Given the description of an element on the screen output the (x, y) to click on. 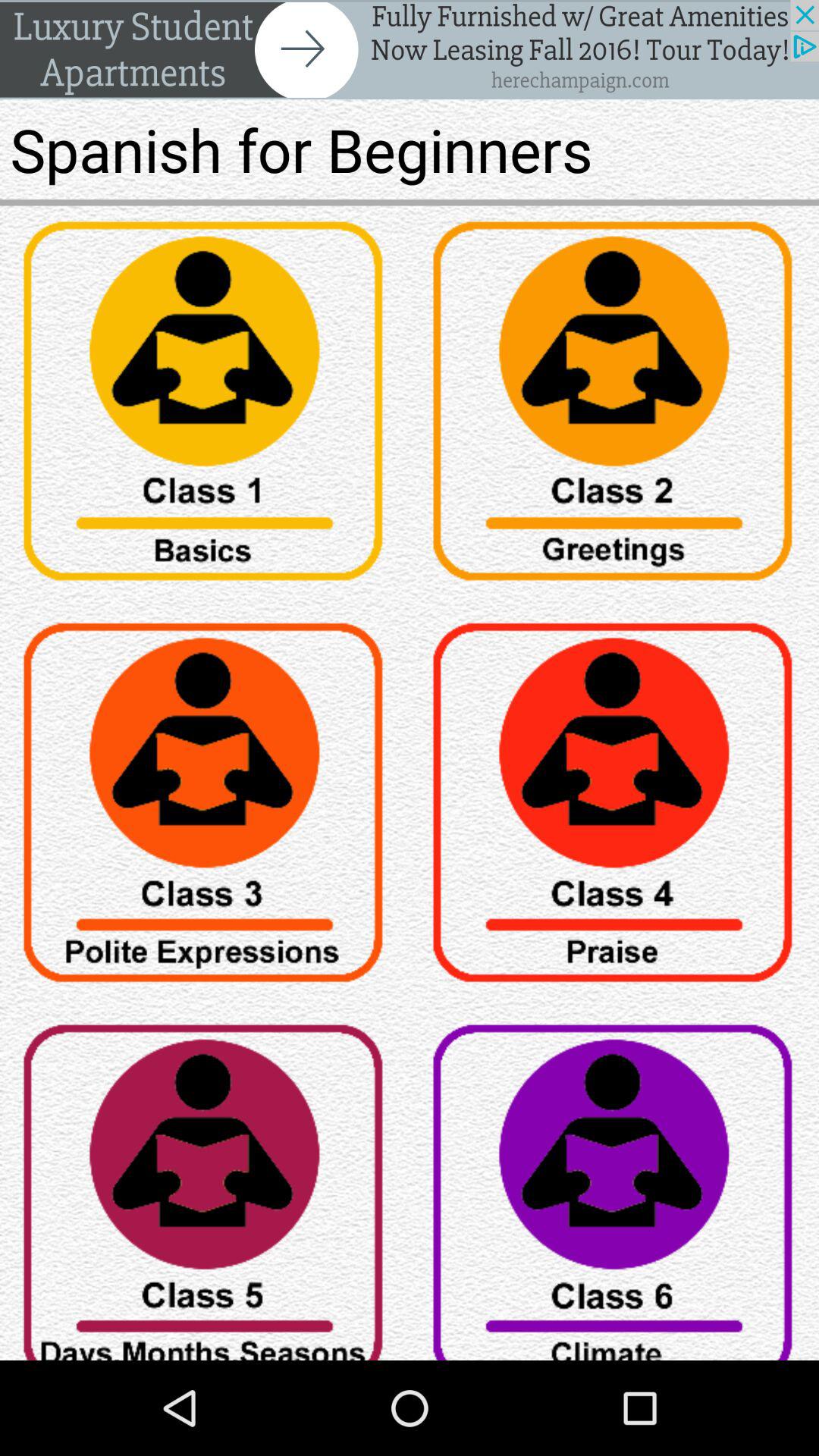
opens that part of the lesson (614, 807)
